Given the description of an element on the screen output the (x, y) to click on. 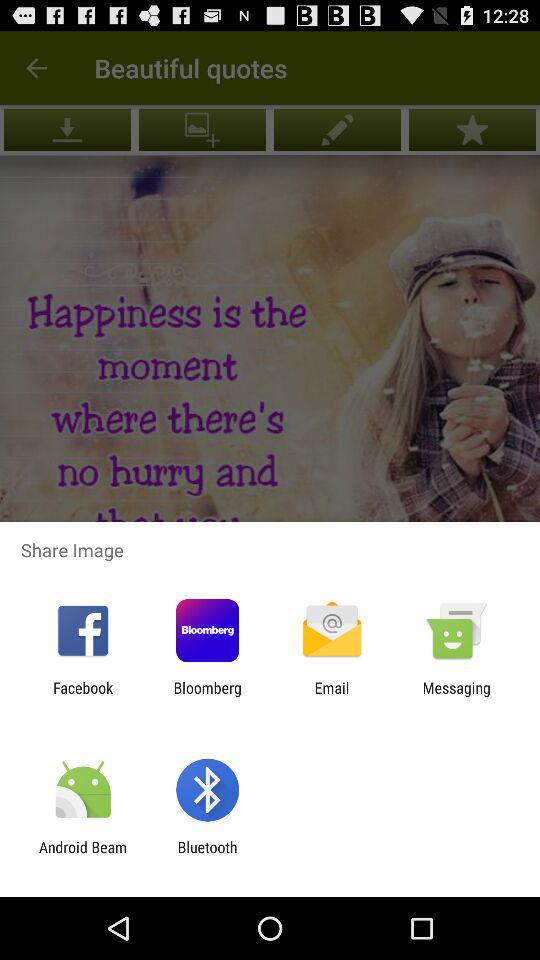
launch the item to the left of email app (207, 696)
